Given the description of an element on the screen output the (x, y) to click on. 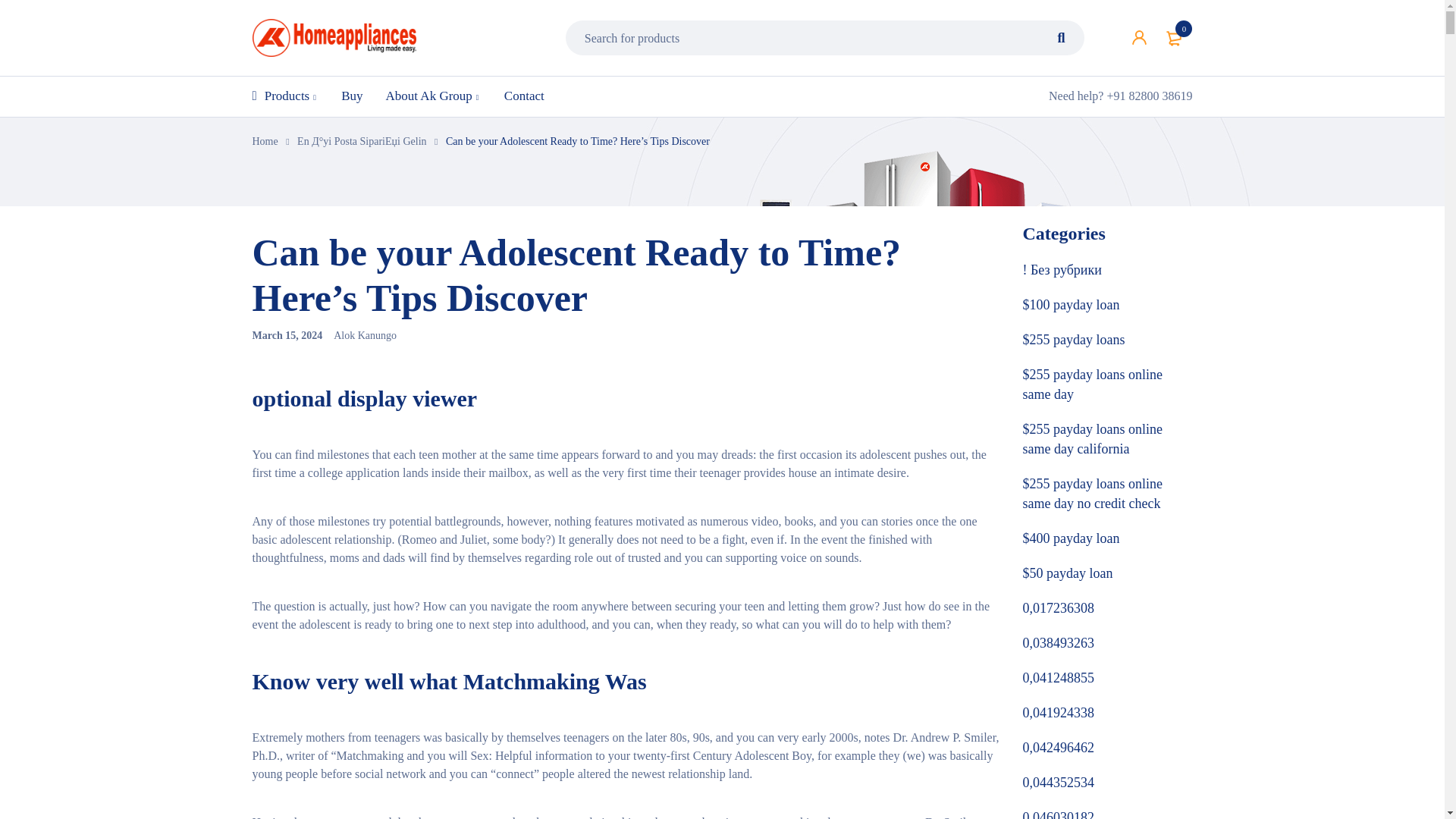
Search (1061, 37)
